Given the description of an element on the screen output the (x, y) to click on. 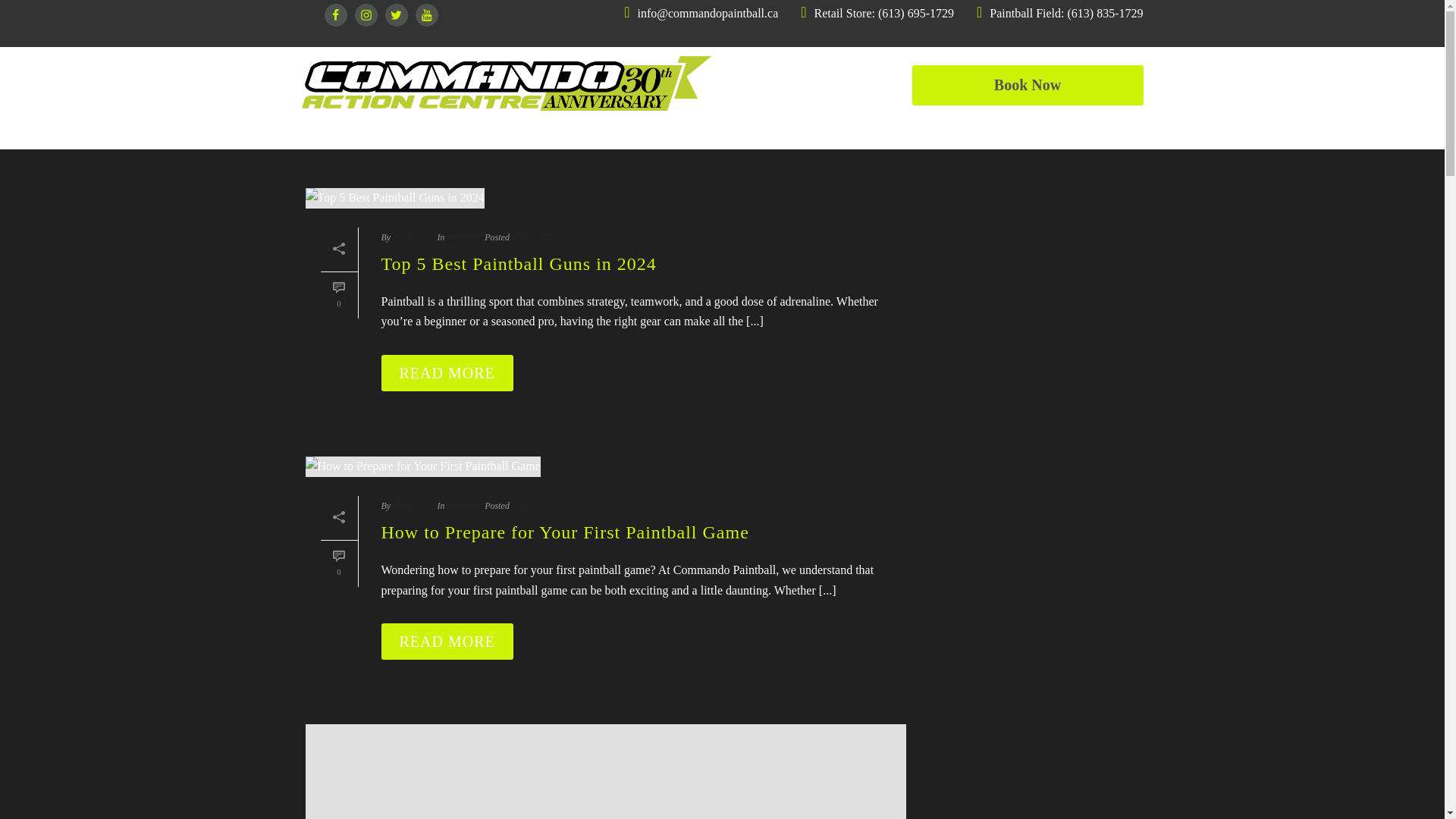
PAINTBALL (342, 131)
RESOURCE (1103, 131)
AIRSOFT (633, 131)
How to Prepare for Your First Paintball Game (422, 466)
Posts by Tyson Hinz (412, 505)
GROUPS (746, 131)
FIELD TOUR (969, 131)
D-DAY (851, 131)
READ MORE (446, 641)
Posts by Tyson Hinz (412, 236)
